Given the description of an element on the screen output the (x, y) to click on. 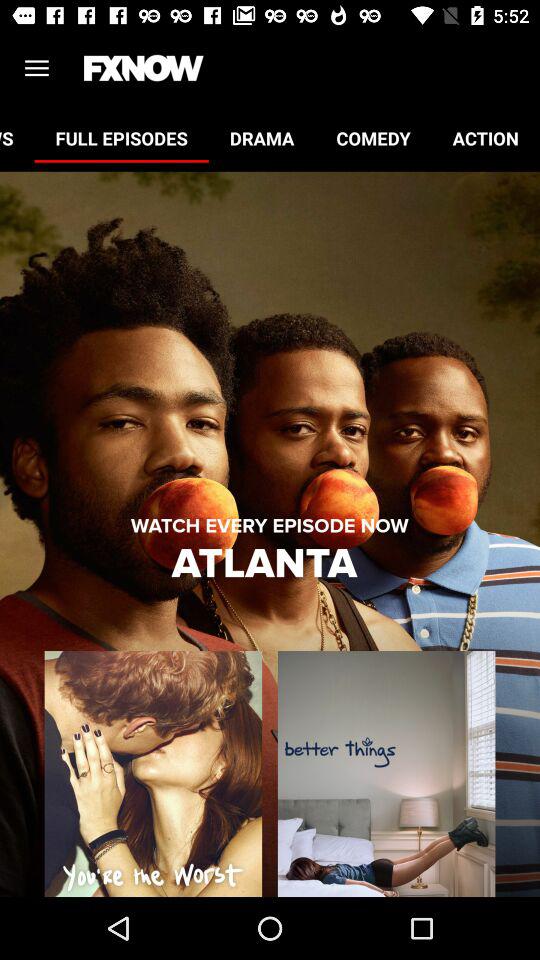
press the item next to the comedy (261, 138)
